Given the description of an element on the screen output the (x, y) to click on. 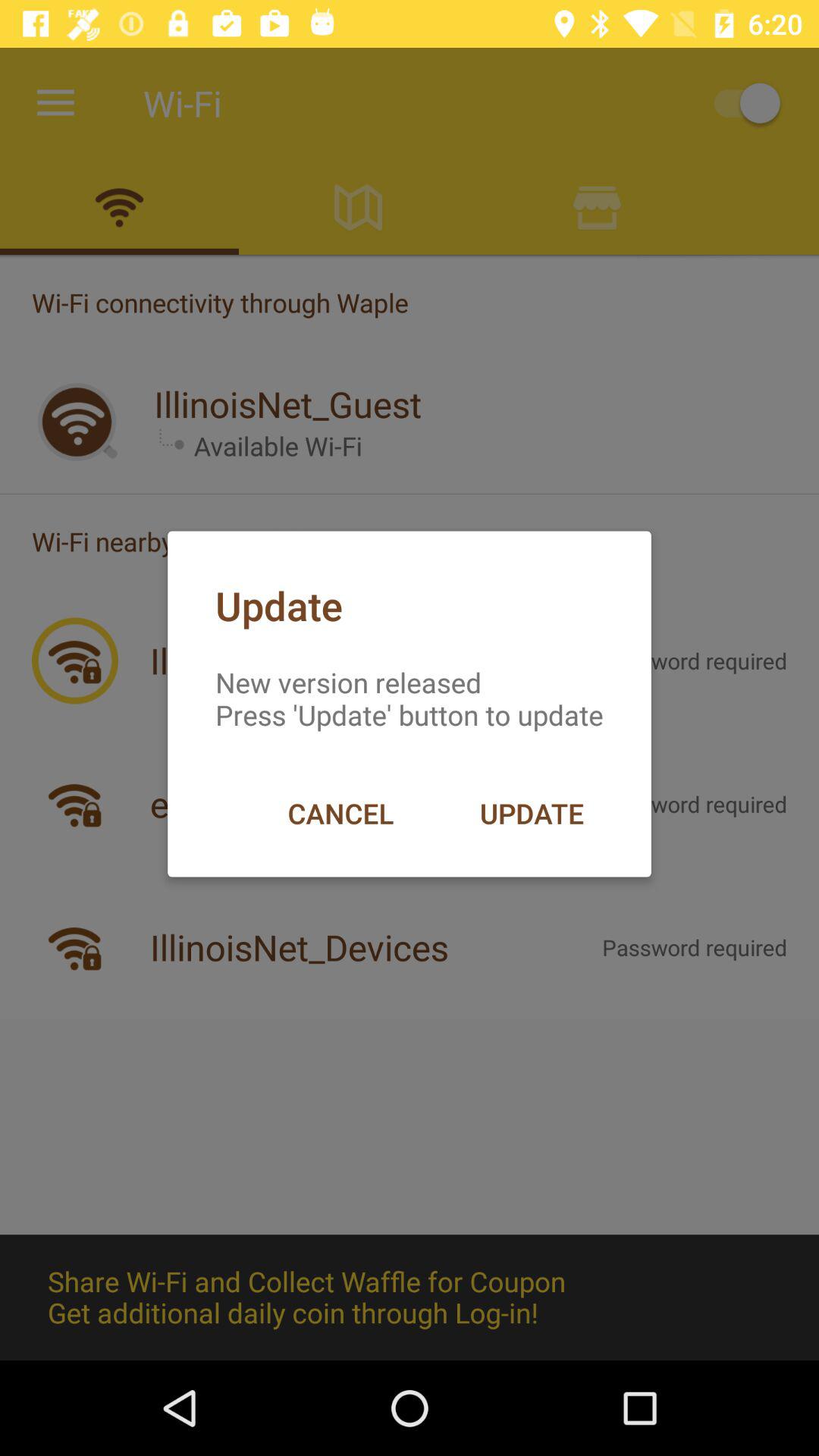
flip to cancel item (340, 813)
